Given the description of an element on the screen output the (x, y) to click on. 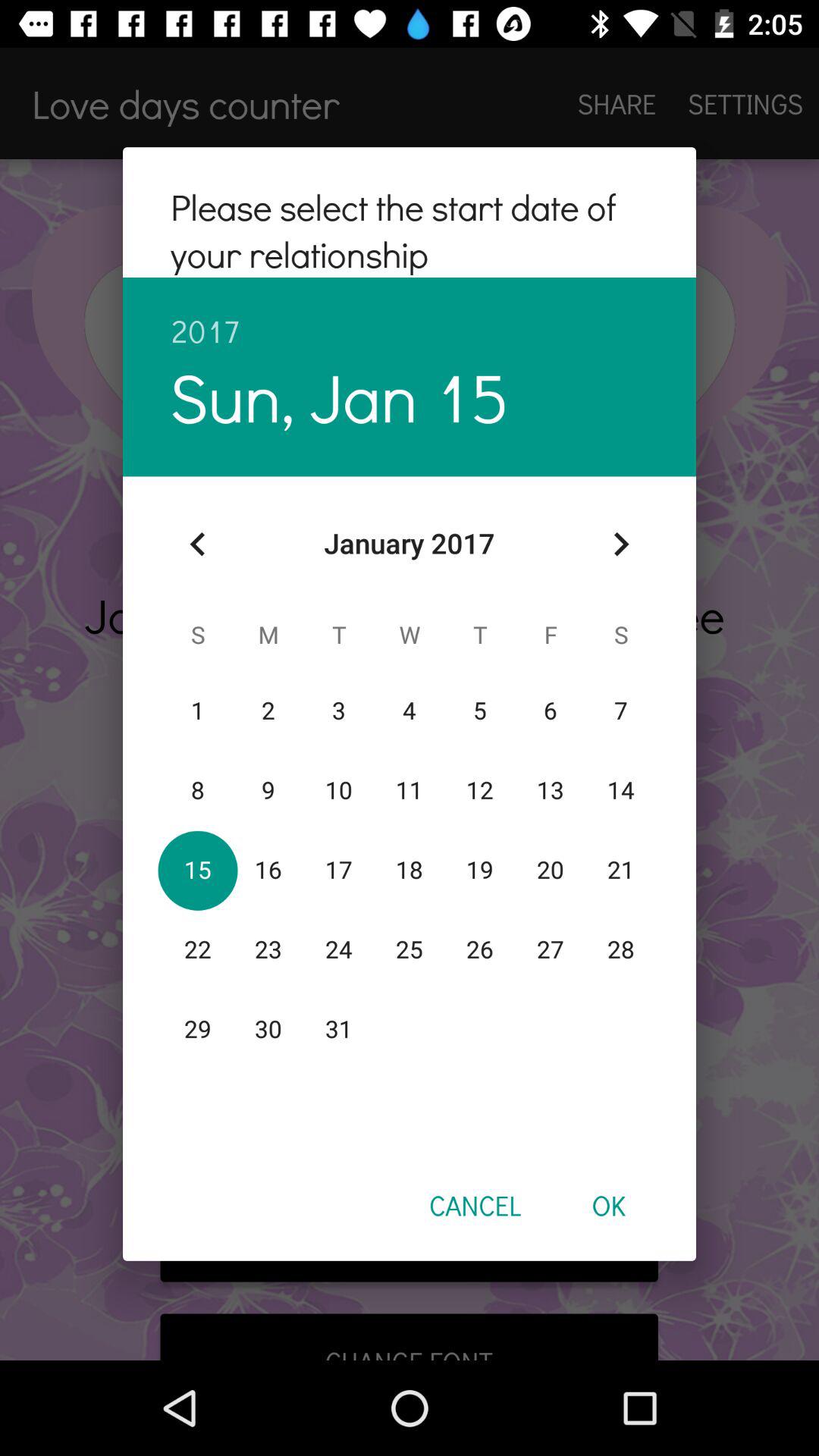
open icon on the left (197, 544)
